Given the description of an element on the screen output the (x, y) to click on. 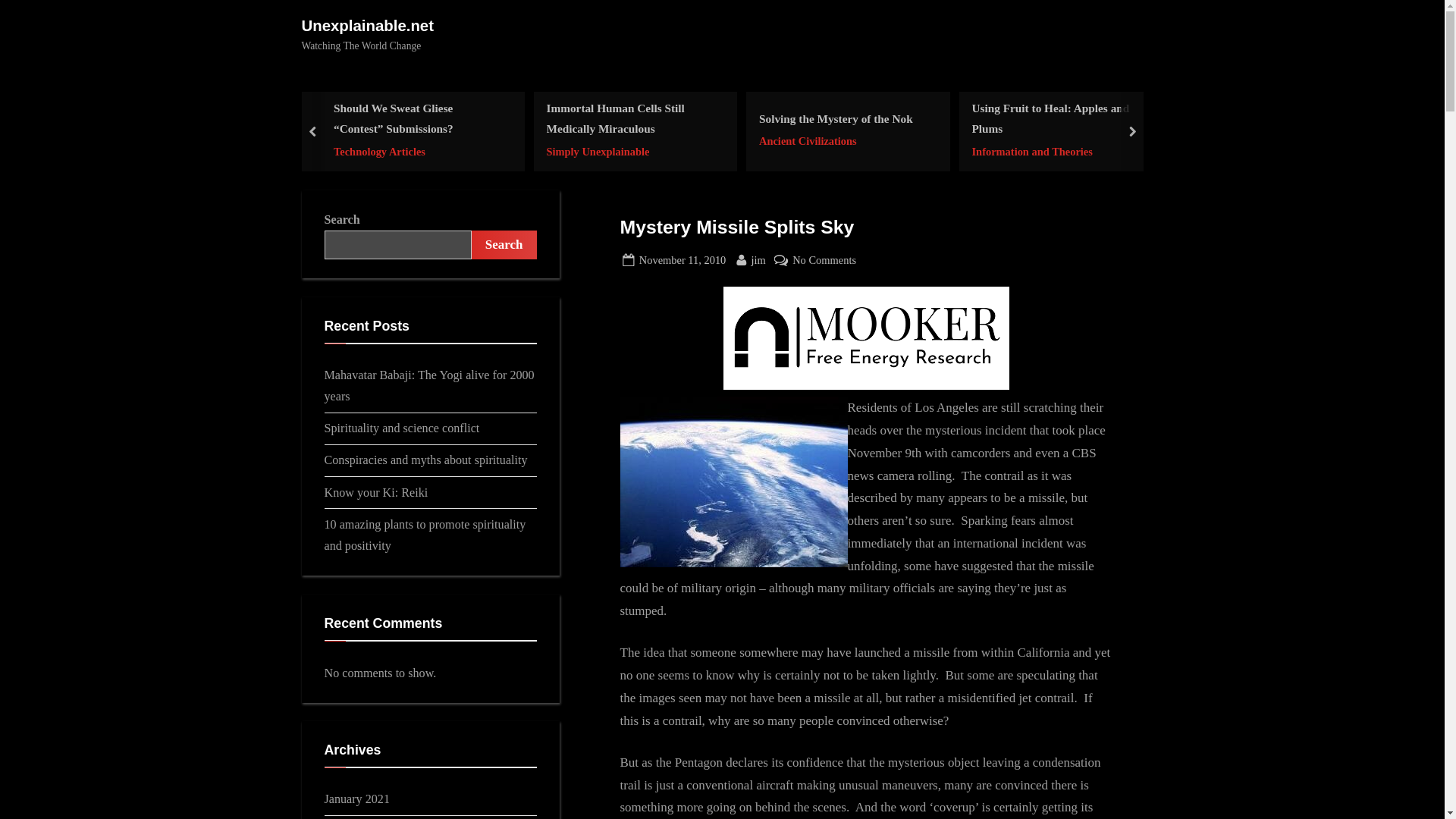
Information and Theories (824, 260)
Simply Unexplainable (1055, 150)
Unexplainable.net (630, 150)
Solving the Mystery of the Nok (367, 25)
Ancient Civilizations (835, 118)
Using Fruit to Heal: Apples and Plums (682, 260)
Technology Articles (835, 140)
Immortal Human Cells Still Medically Miraculous (1055, 118)
